Given the description of an element on the screen output the (x, y) to click on. 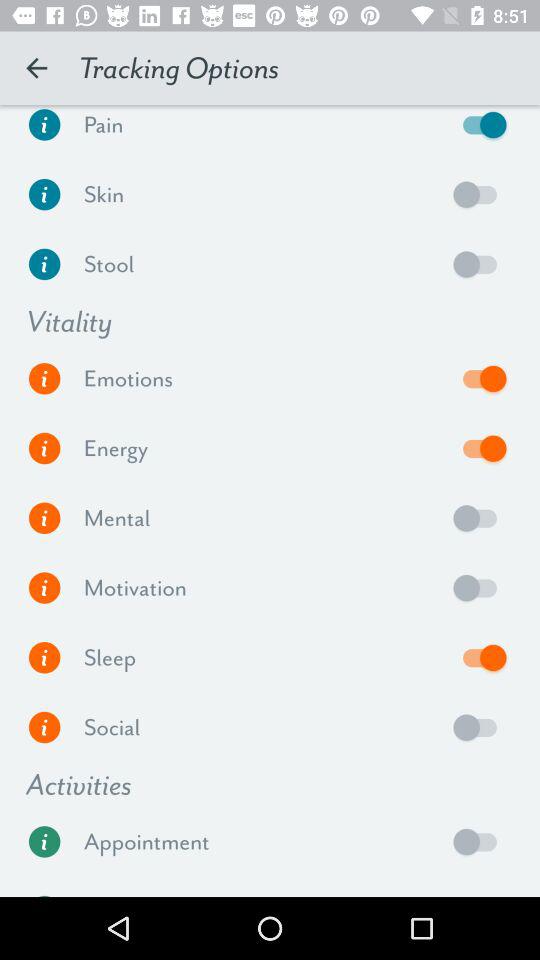
shows more information (44, 517)
